Given the description of an element on the screen output the (x, y) to click on. 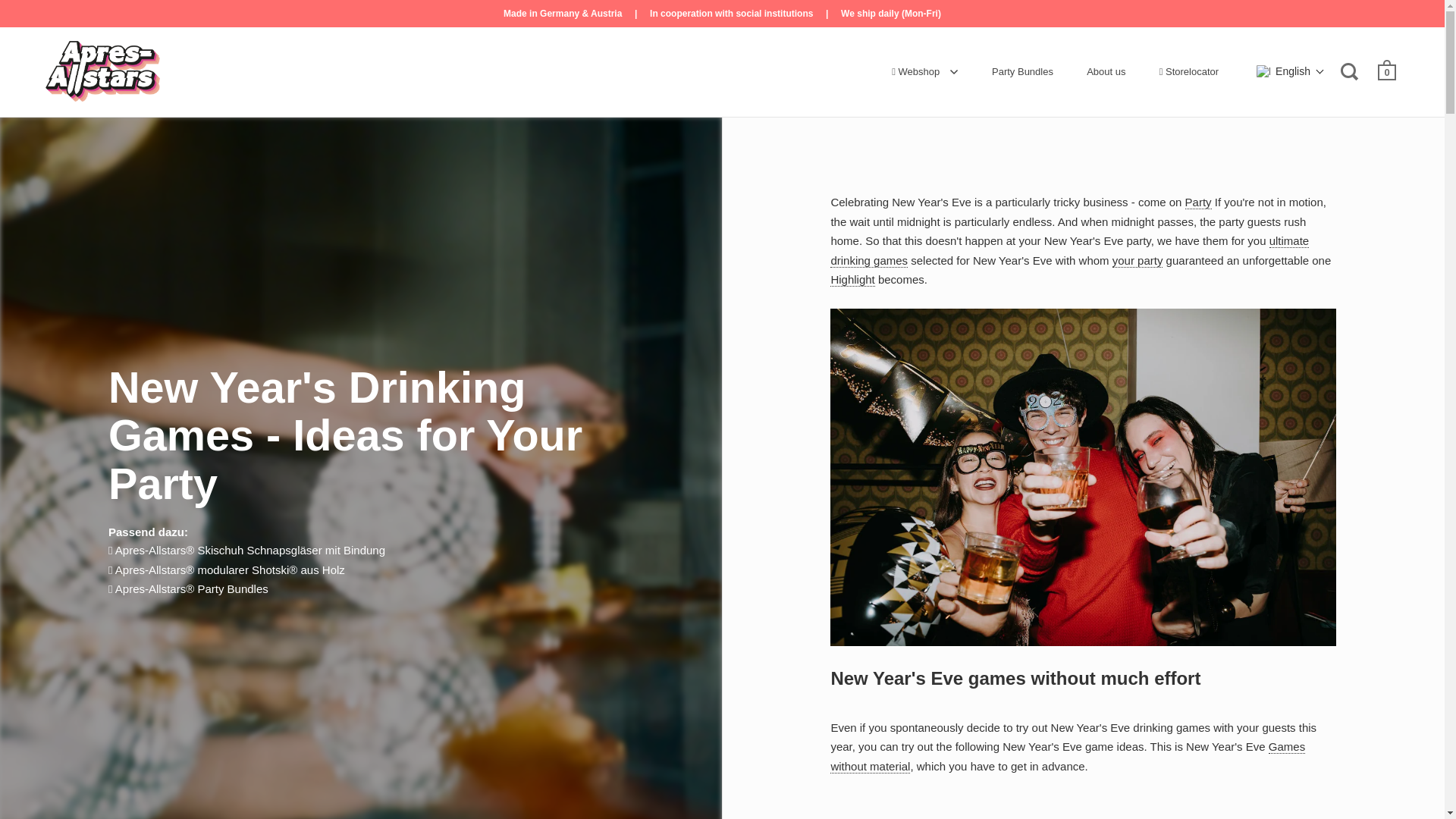
die besten Trinkspiele (1068, 250)
Karneval Partyspiele (1198, 202)
trinkspiele ohne material (1066, 756)
Apres Ski Party (852, 279)
About us (1105, 70)
Open search (1350, 70)
Open cart (1387, 69)
Party Bundles (1022, 70)
JGA Trinkspiel-Ideen (1137, 259)
